Given the description of an element on the screen output the (x, y) to click on. 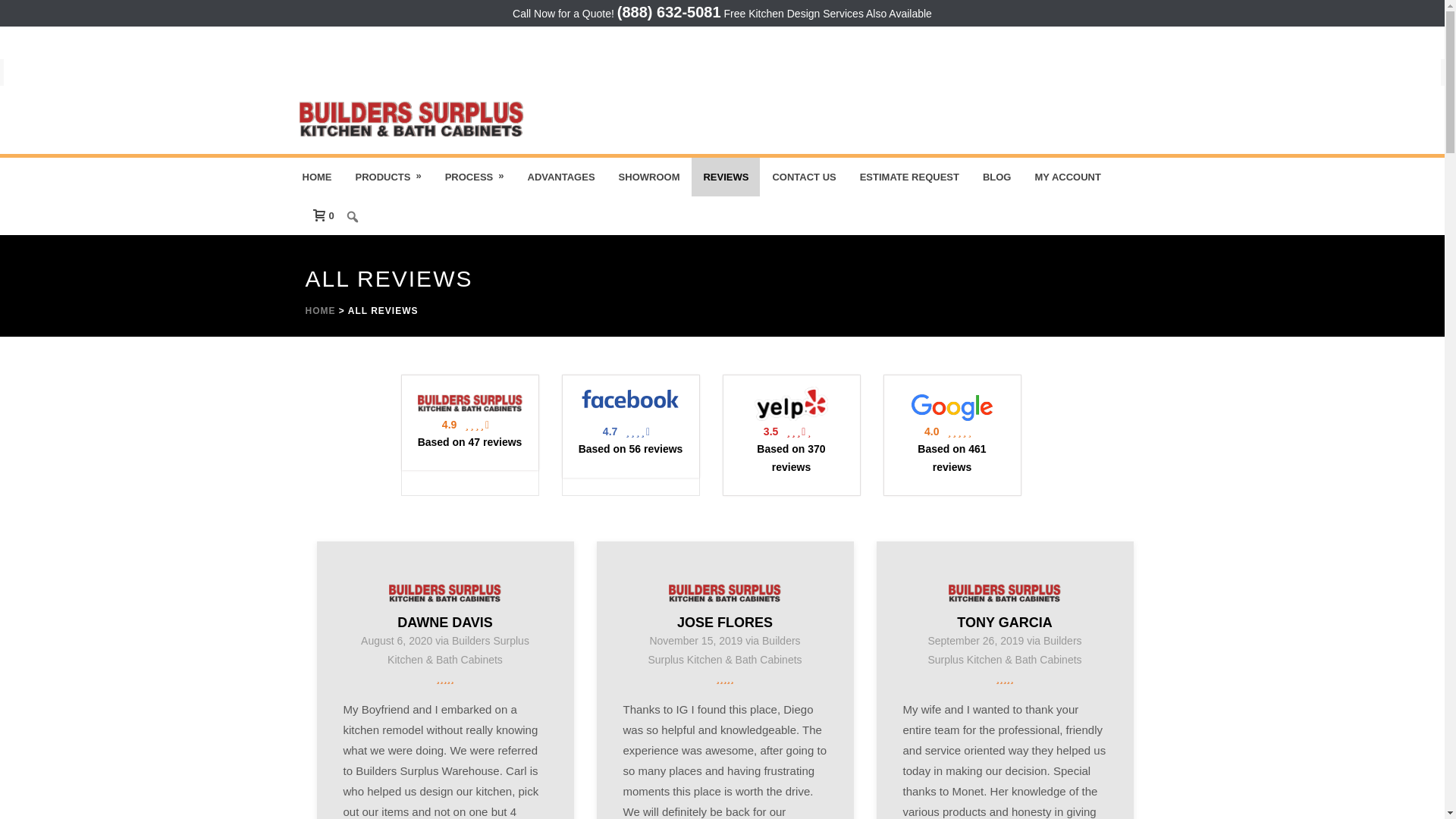
Kitchen and Bathroom Cabinets (410, 119)
HOME (317, 177)
PROCESS (474, 177)
ESTIMATE REQUEST (909, 177)
PRODUCTS (387, 177)
ADVANTAGES (560, 177)
0 (318, 215)
REVIEWS (725, 177)
ADVANTAGES (560, 177)
PRODUCTS (387, 177)
